Given the description of an element on the screen output the (x, y) to click on. 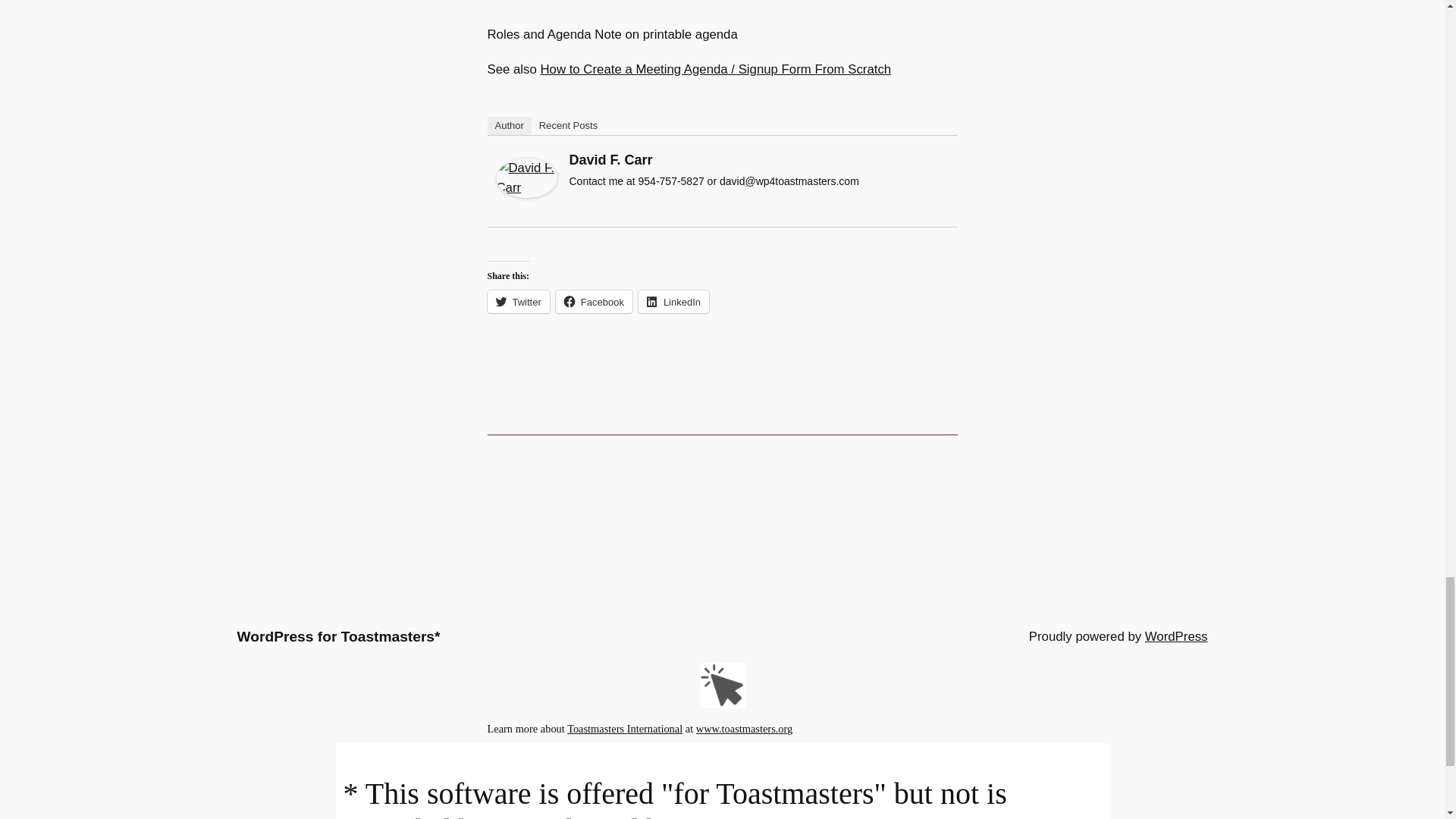
WordPress (1176, 636)
Click to share on LinkedIn (674, 301)
Click to share on Twitter (517, 301)
Click to share on Facebook (593, 301)
David F. Carr (610, 159)
David F. Carr (526, 193)
Recent Posts (568, 126)
Facebook (593, 301)
LinkedIn (674, 301)
Twitter (517, 301)
Author (508, 126)
